Given the description of an element on the screen output the (x, y) to click on. 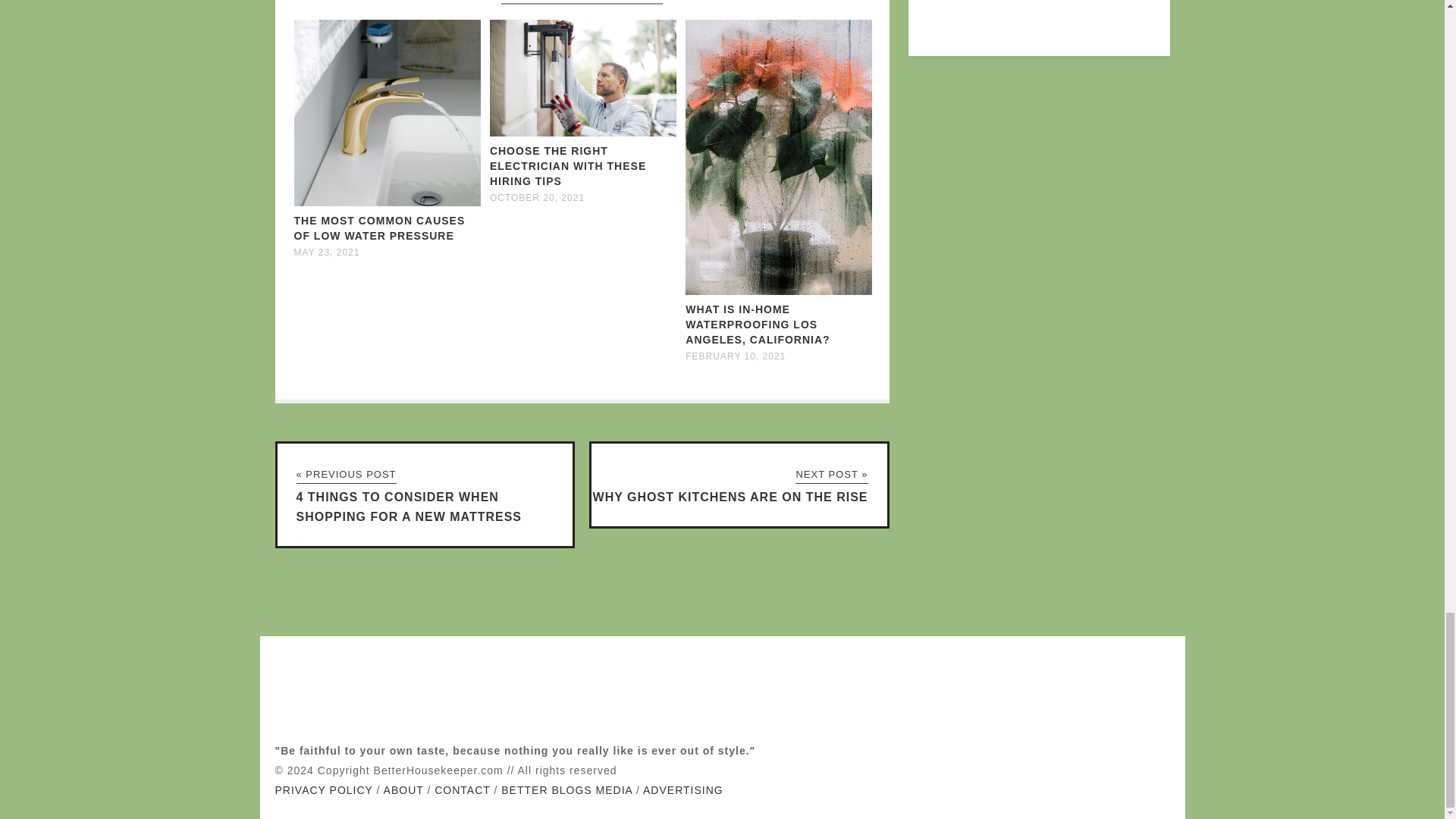
MAY 23, 2021 (326, 252)
THE MOST COMMON CAUSES OF LOW WATER PRESSURE (379, 227)
